Given the description of an element on the screen output the (x, y) to click on. 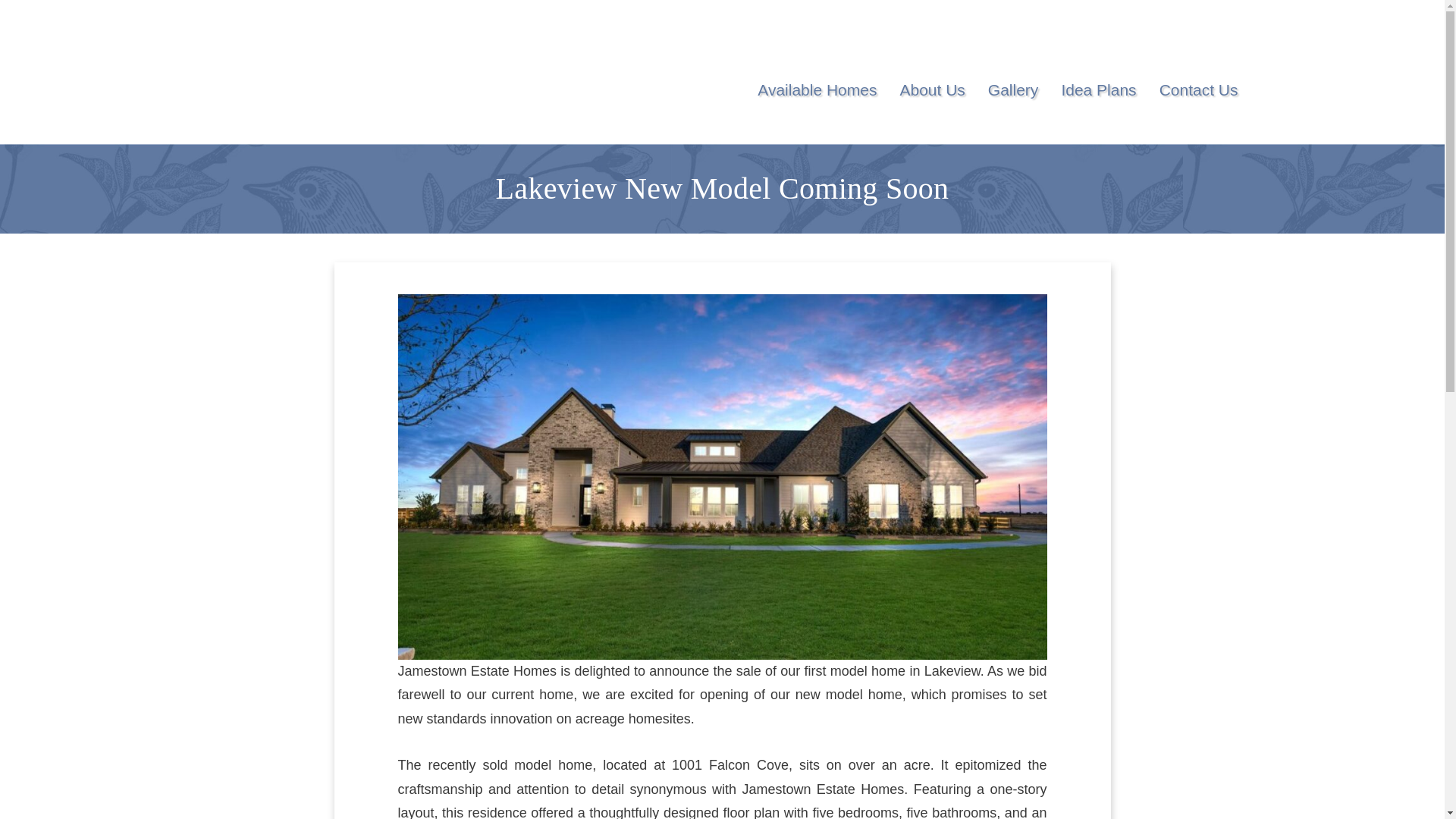
Gallery (1012, 90)
Idea Plans (1097, 90)
JAMESTOWN ESTATE HOMES (293, 79)
Available Homes (816, 90)
About Us (931, 90)
